Given the description of an element on the screen output the (x, y) to click on. 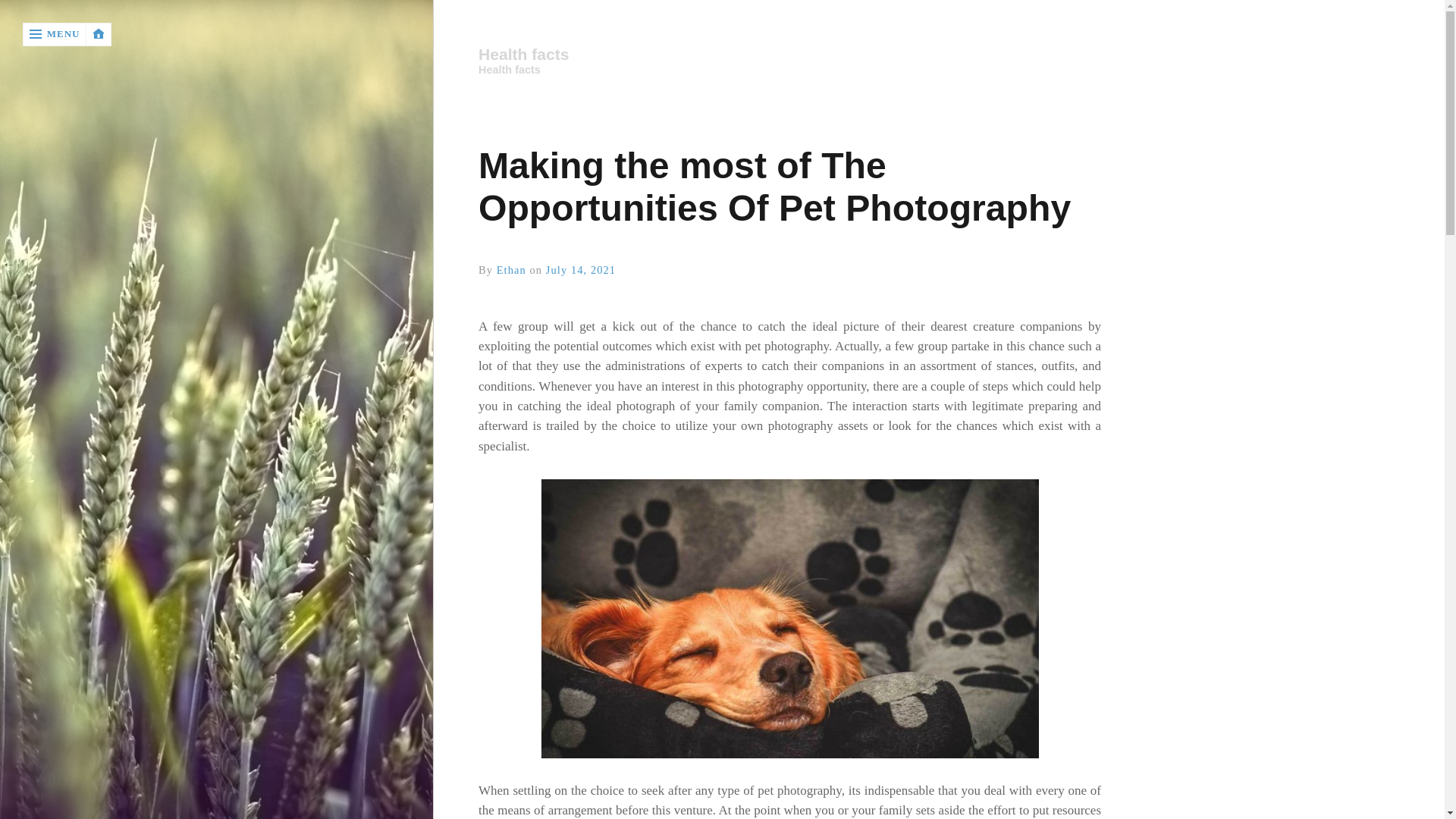
10:49 am (580, 269)
Home (789, 54)
Ethan (510, 269)
July 14, 2021 (580, 269)
Health facts (788, 54)
View all posts by Ethan (510, 269)
MENU (55, 33)
